Given the description of an element on the screen output the (x, y) to click on. 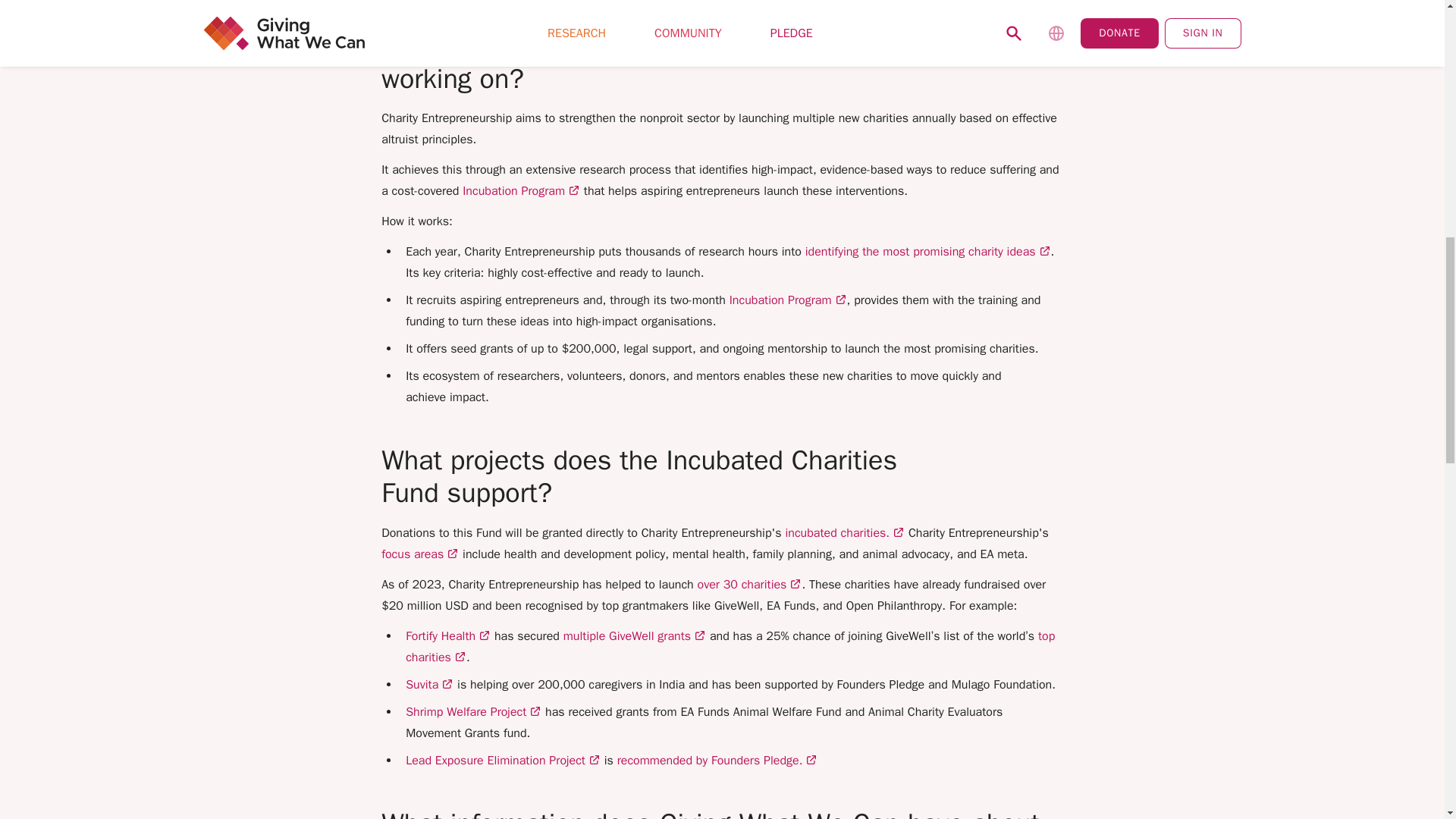
Incubation Program (788, 299)
over 30 charities (749, 584)
identifying the most promising charity ideas (928, 251)
Incubation Program (521, 191)
Fortify Health (448, 635)
Suvita (429, 684)
focus areas (419, 554)
Shrimp Welfare Project (473, 711)
Lead Exposure Elimination Project (502, 760)
top charities (730, 646)
